Given the description of an element on the screen output the (x, y) to click on. 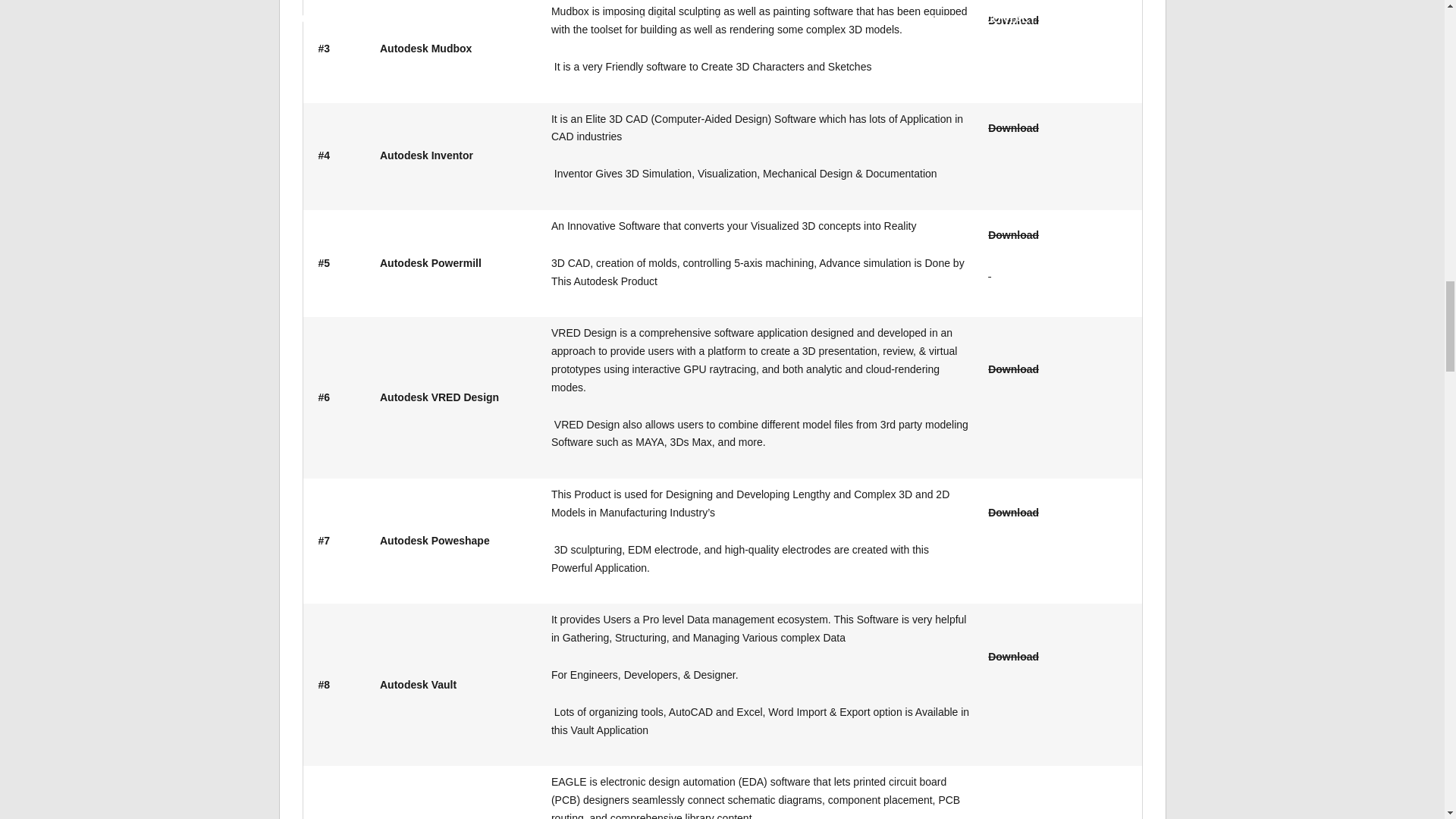
Download (1013, 656)
Download (1013, 369)
Download (1013, 128)
Download (1013, 512)
Download (1013, 20)
Download (1013, 234)
